Given the description of an element on the screen output the (x, y) to click on. 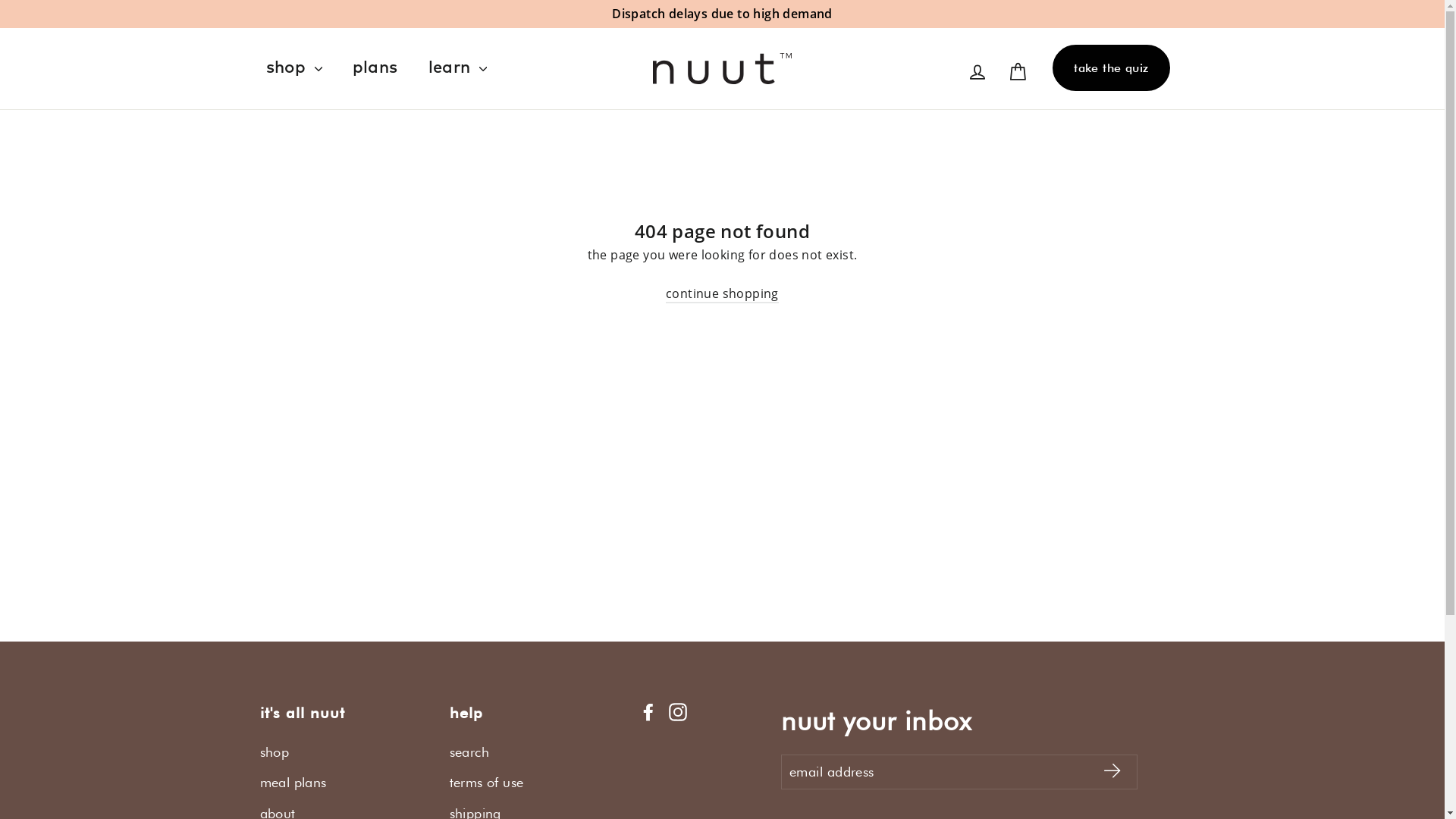
meal plans Element type: text (342, 782)
shop Element type: text (293, 68)
Facebook Element type: text (647, 711)
learn Element type: text (456, 68)
plans Element type: text (374, 68)
cart Element type: text (1017, 71)
Dispatch delays due to high demand Element type: text (722, 14)
search Element type: text (531, 752)
terms of use Element type: text (531, 782)
log in Element type: text (977, 71)
continue shopping Element type: text (721, 294)
skip to content Element type: text (0, 0)
Instagram Element type: text (677, 711)
shop Element type: text (342, 752)
take the quiz Element type: text (1110, 67)
